Given the description of an element on the screen output the (x, y) to click on. 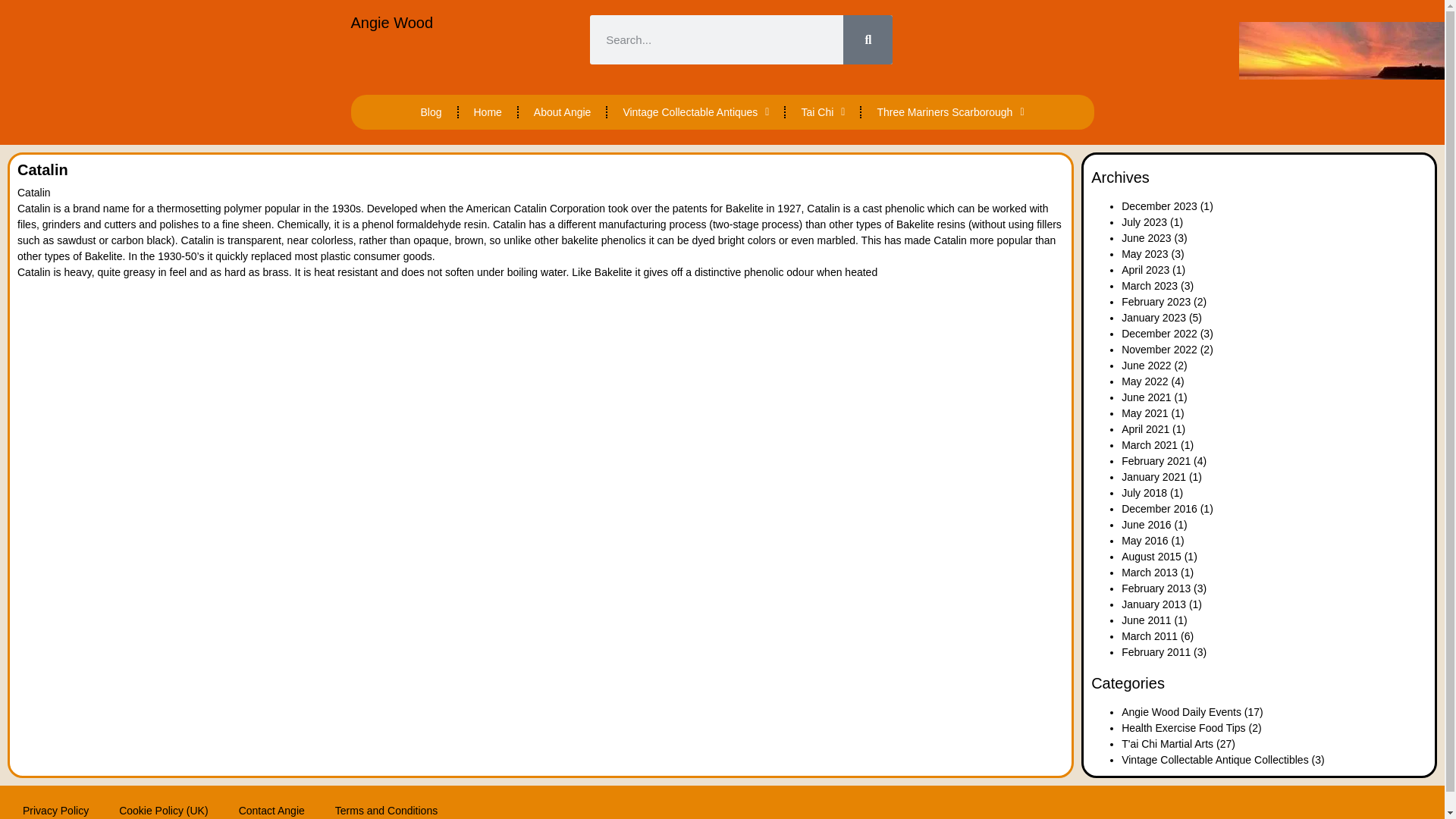
Three Mariners Scarborough (950, 112)
Tai Chi Chuan Sou Fa Fat (823, 112)
Tai Chi (823, 112)
July 2023 (1144, 222)
May 2023 (1144, 254)
Home (487, 112)
Vintage Collectable Antiques (695, 112)
December 2023 (1158, 205)
About Angie (562, 112)
Angie Wood (391, 22)
